Given the description of an element on the screen output the (x, y) to click on. 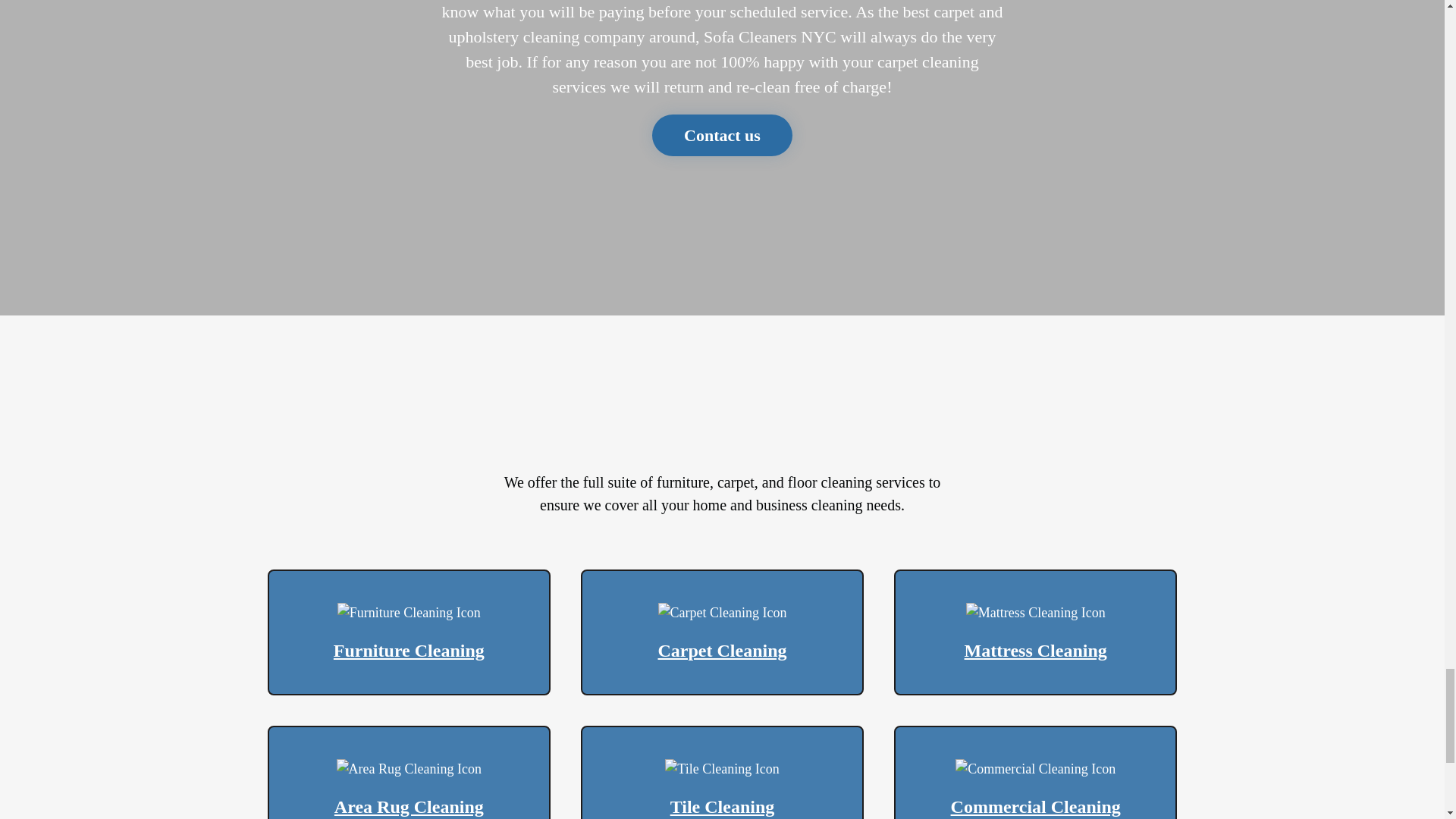
Tile Cleaning (721, 772)
Mattress Cleaning (1034, 632)
Furniture Cleaning (408, 632)
Carpet Cleaning (721, 632)
Contact us (722, 135)
Commercial Cleaning (1034, 772)
Area Rug Cleaning (408, 772)
